Given the description of an element on the screen output the (x, y) to click on. 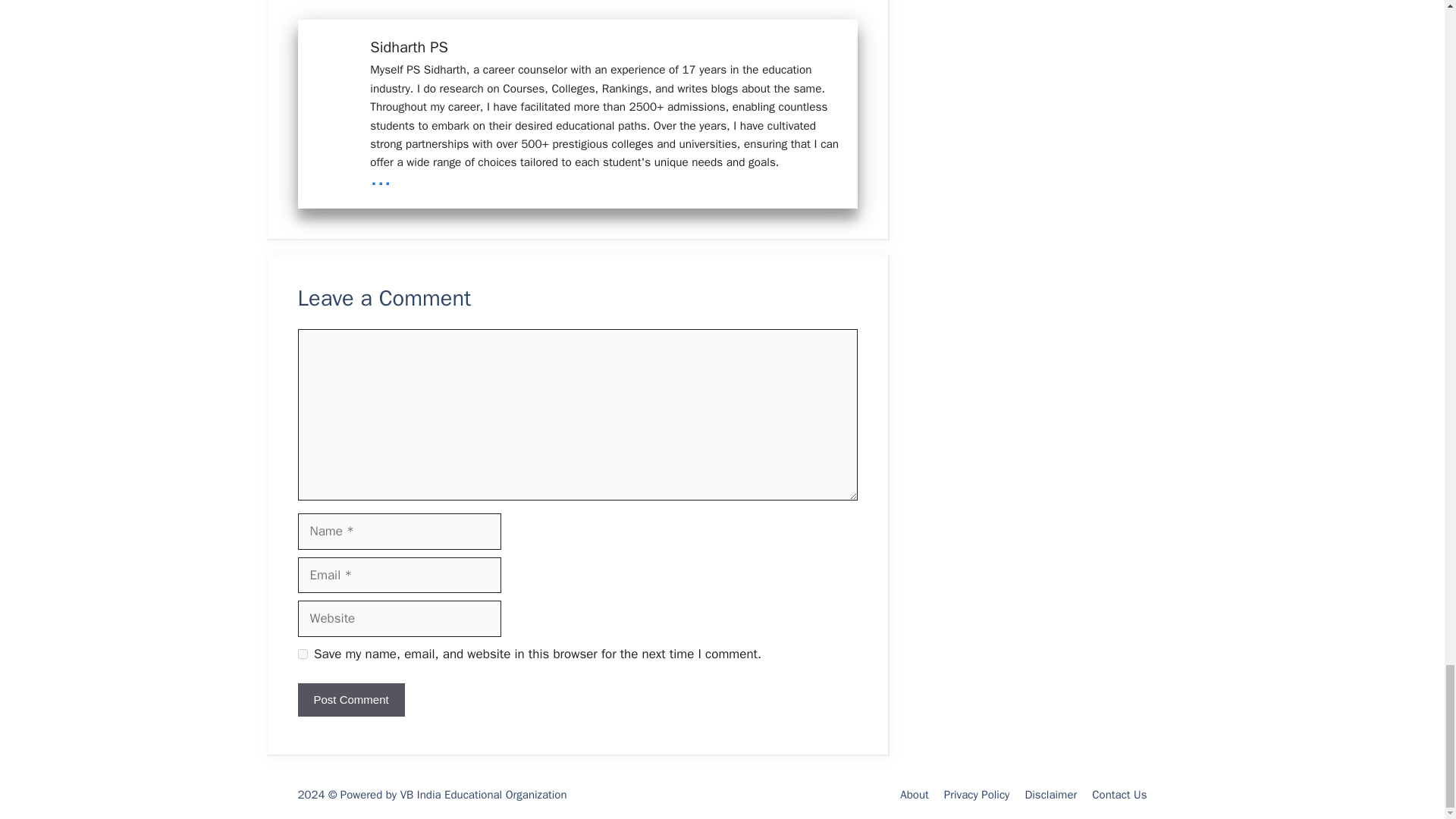
Disclaimer (1051, 794)
Post Comment (350, 700)
About (913, 794)
Privacy Policy (976, 794)
... (380, 177)
Contact Us (1119, 794)
yes (302, 654)
Read more (380, 177)
Post Comment (350, 700)
